Given the description of an element on the screen output the (x, y) to click on. 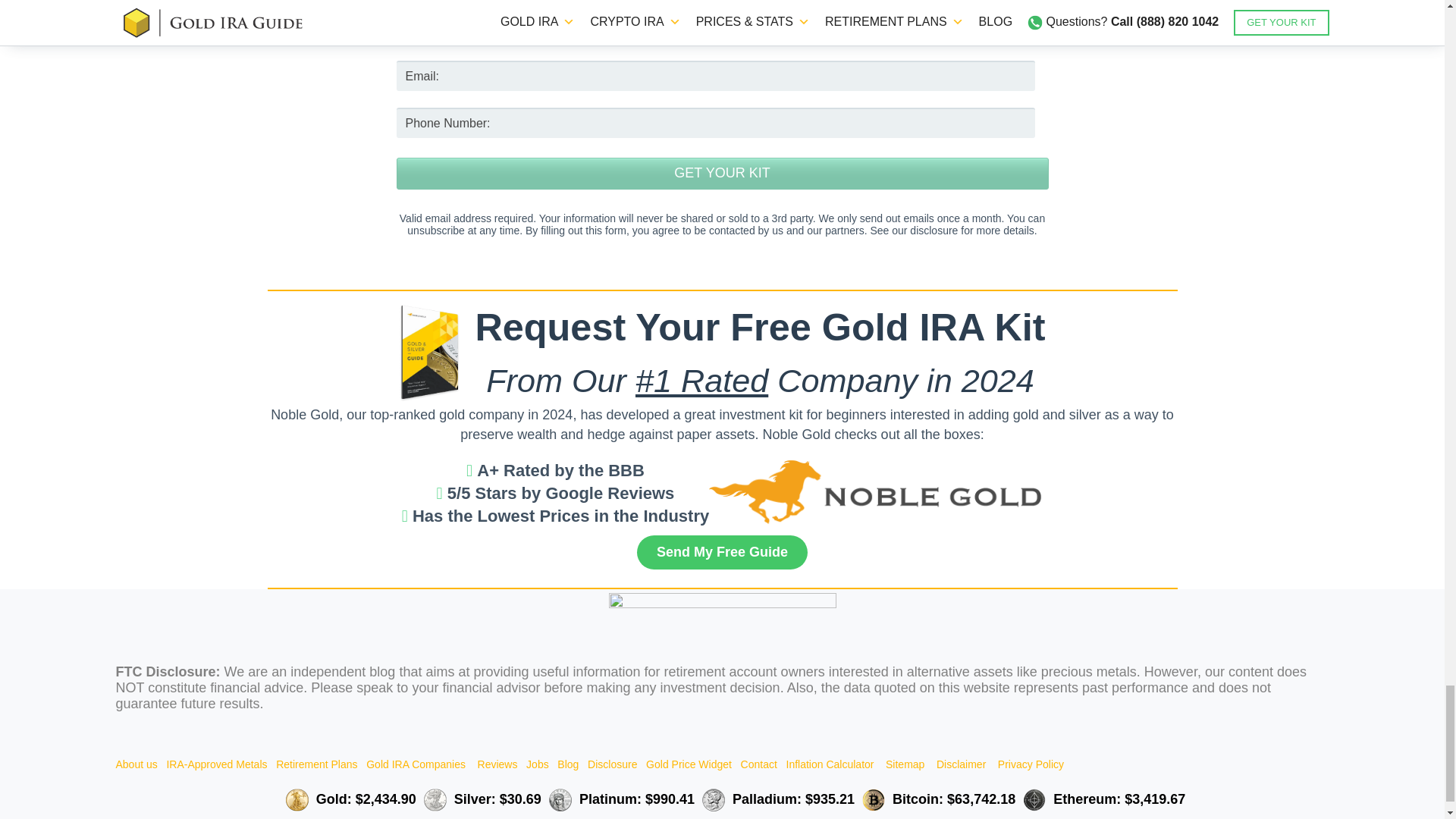
Phone Number: (715, 122)
Email: (715, 75)
GET YOUR KIT (722, 173)
Name: (715, 28)
